Given the description of an element on the screen output the (x, y) to click on. 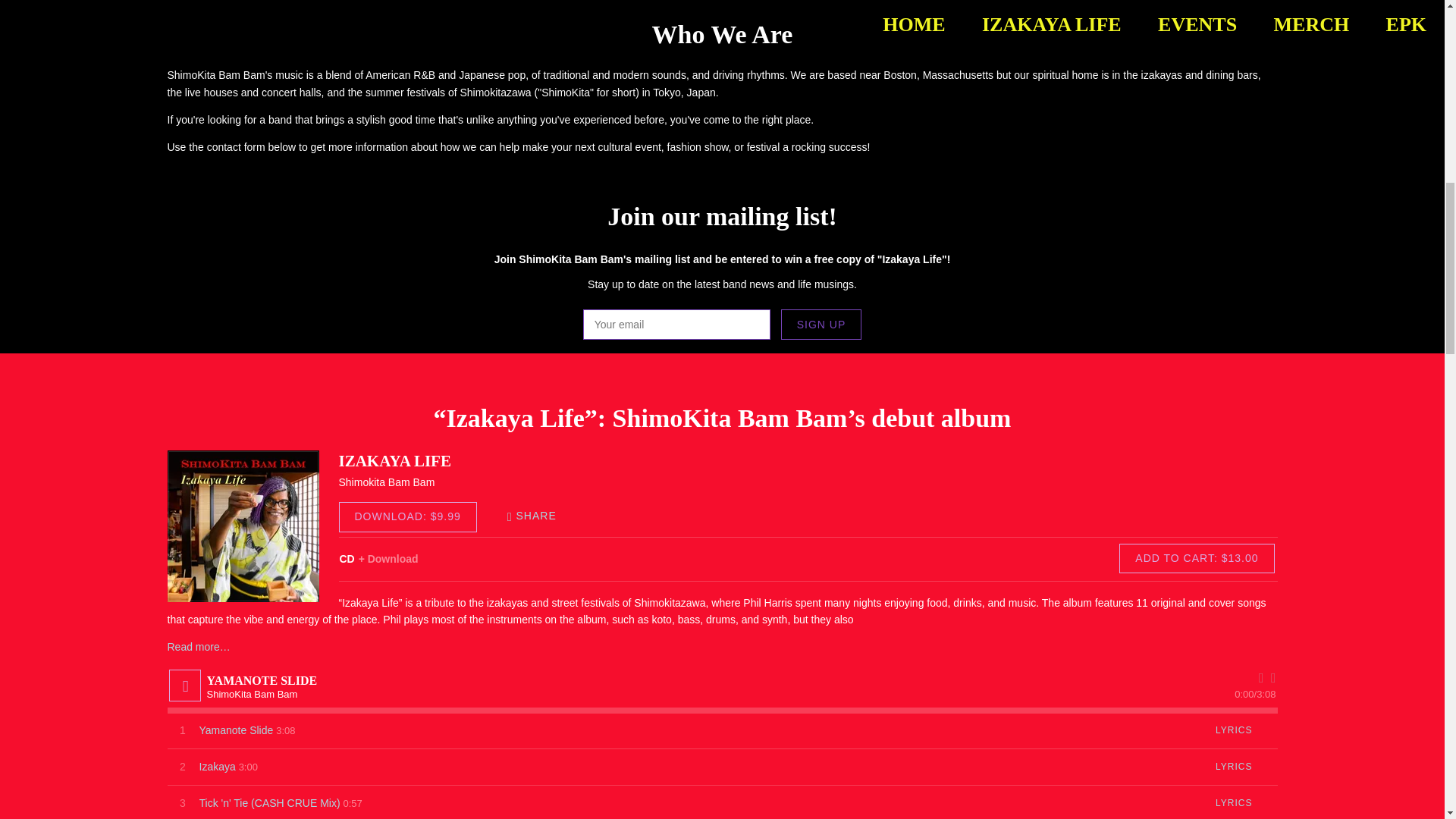
Yamanote Slide (235, 730)
LYRICS (1233, 766)
Yamanote Slide (235, 730)
Share Izakaya Life (539, 516)
SIGN UP (820, 324)
SHARE (539, 516)
LYRICS (1233, 730)
Izakaya (216, 766)
Izakaya Life (242, 525)
LYRICS (1233, 803)
